Given the description of an element on the screen output the (x, y) to click on. 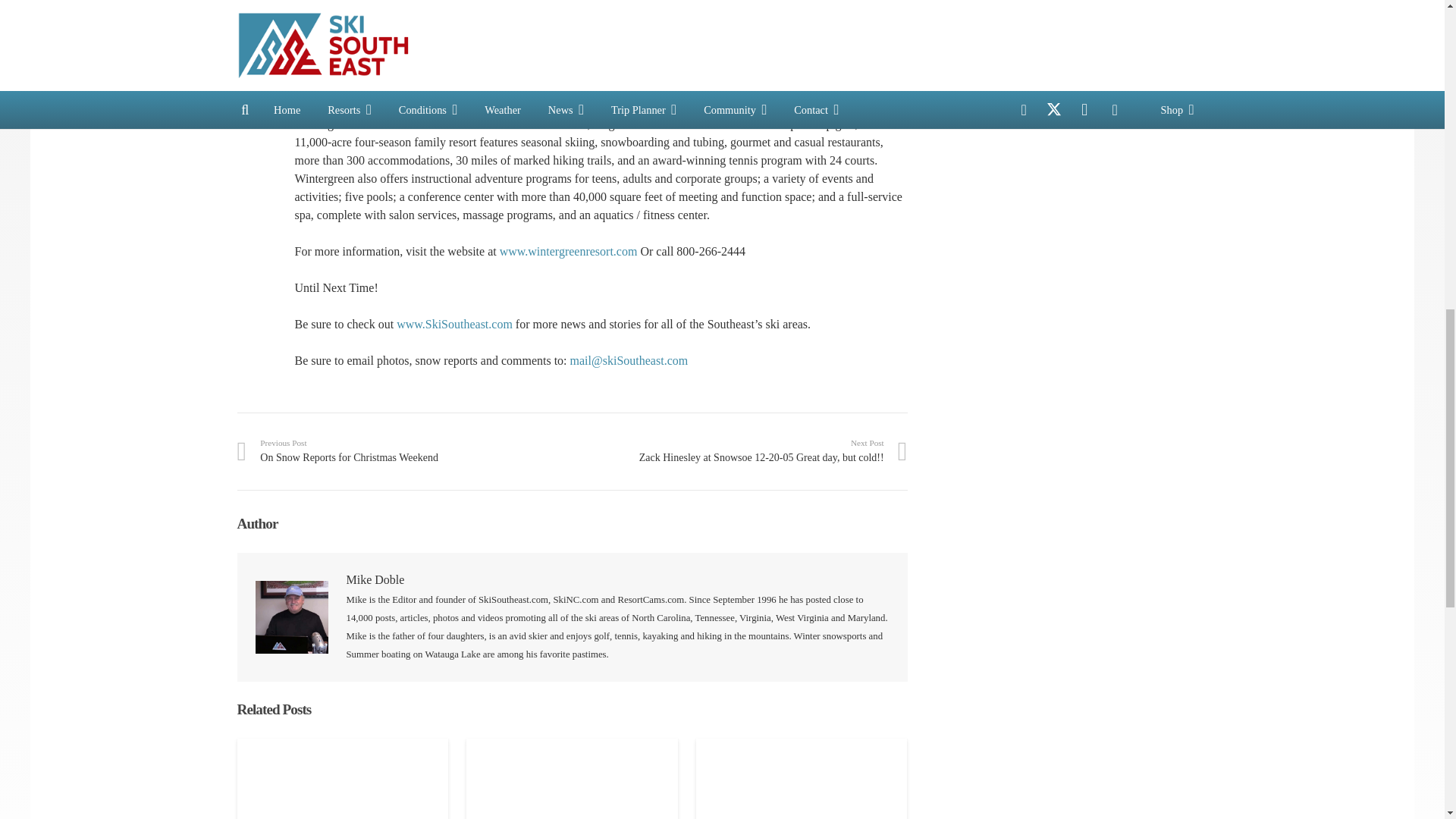
On Snow Reports for Christmas Weekend (403, 451)
